Given the description of an element on the screen output the (x, y) to click on. 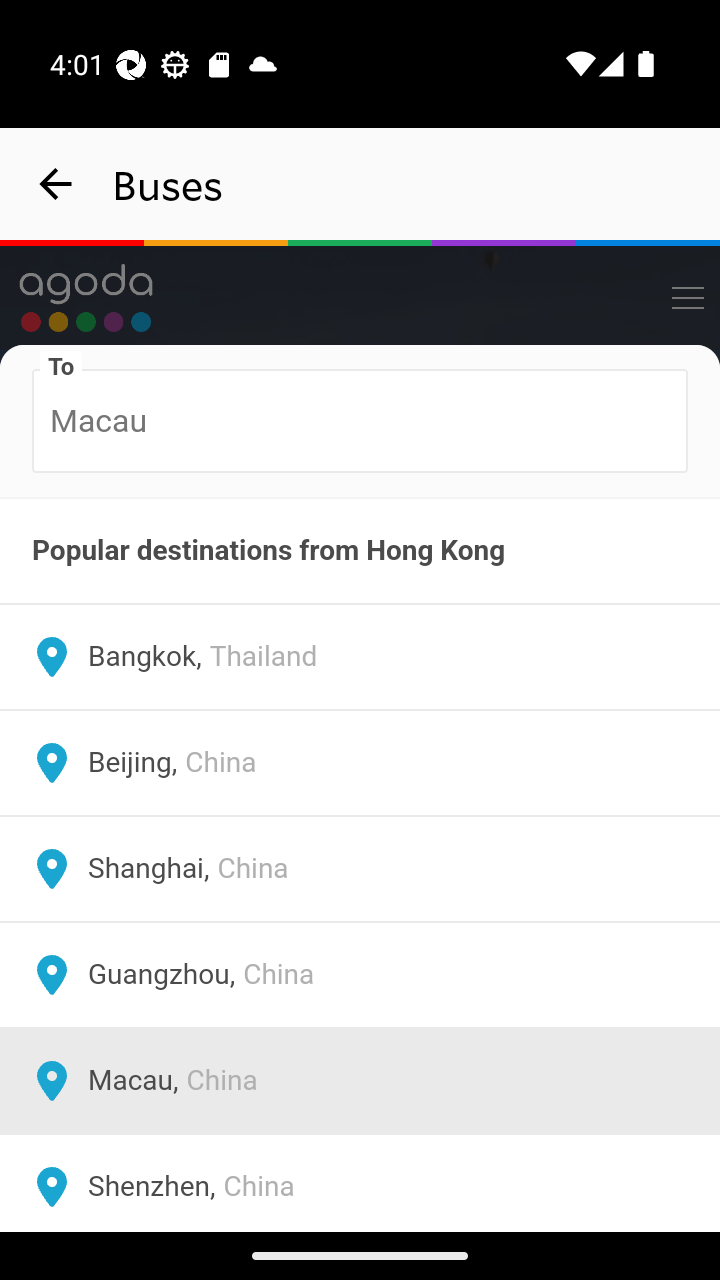
navigation_button (56, 184)
Popular destinations from Hong Kong (360, 551)
Bangkok,Thailand (360, 657)
Beijing,China (360, 763)
Shanghai,China (360, 870)
Guangzhou,China (360, 975)
Macau,China (360, 1081)
Shenzhen,China (360, 1182)
